Given the description of an element on the screen output the (x, y) to click on. 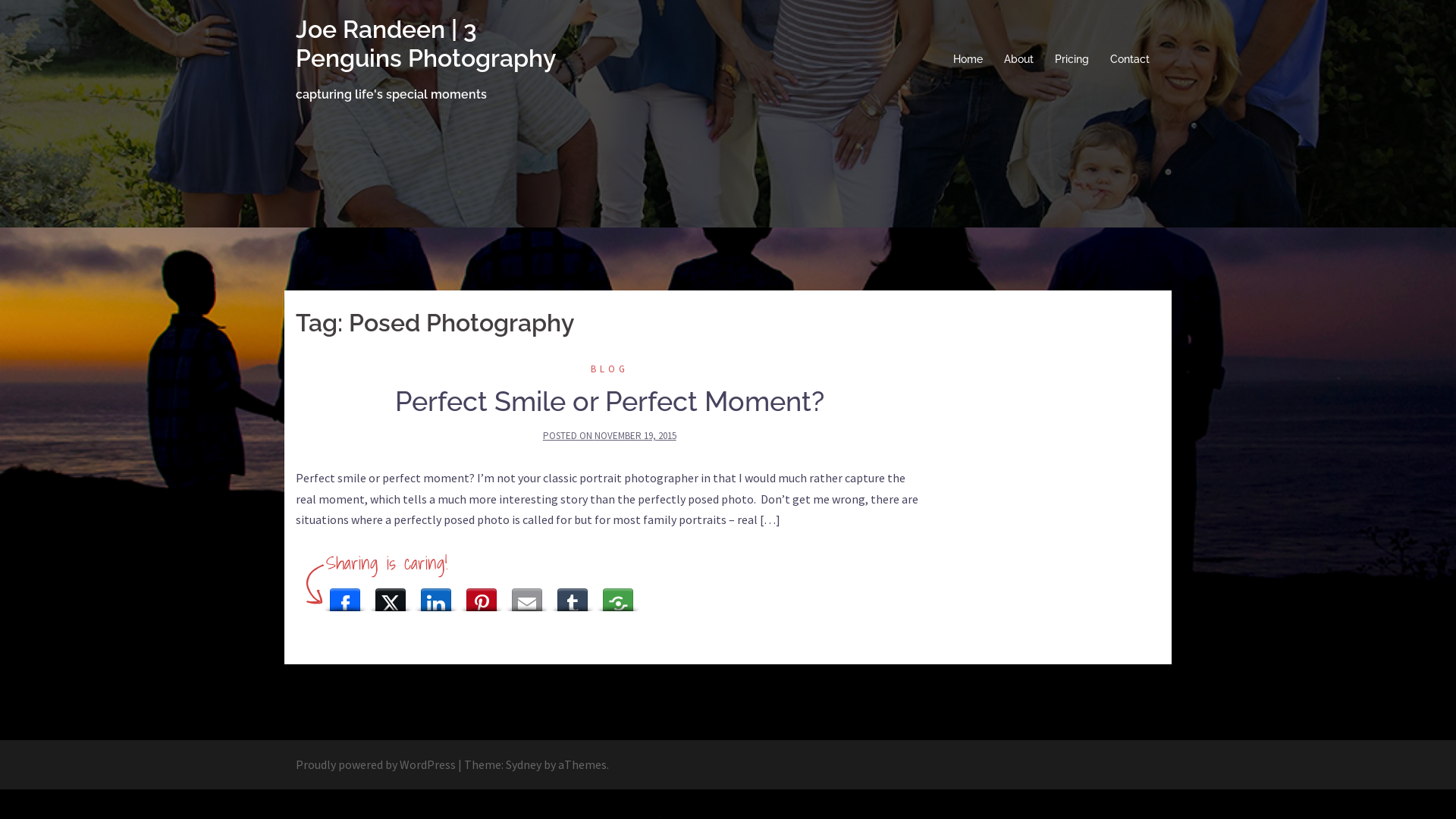
Home Element type: text (967, 59)
Pinterest Element type: hover (481, 596)
Contact Element type: text (1129, 59)
Perfect Smile or Perfect Moment? Element type: text (609, 401)
Skip to content Element type: text (0, 0)
Sydney Element type: text (523, 763)
Pricing Element type: text (1071, 59)
LinkedIn Element type: hover (435, 596)
X (Twitter) Element type: hover (390, 596)
Email This Element type: hover (526, 596)
More Options Element type: hover (617, 596)
NOVEMBER 19, 2015 Element type: text (635, 435)
Tumblr Element type: hover (572, 596)
Facebook Element type: hover (344, 596)
BLOG Element type: text (609, 368)
About Element type: text (1018, 59)
Joe Randeen | 3 Penguins Photography Element type: text (425, 43)
Proudly powered by WordPress Element type: text (375, 763)
